Given the description of an element on the screen output the (x, y) to click on. 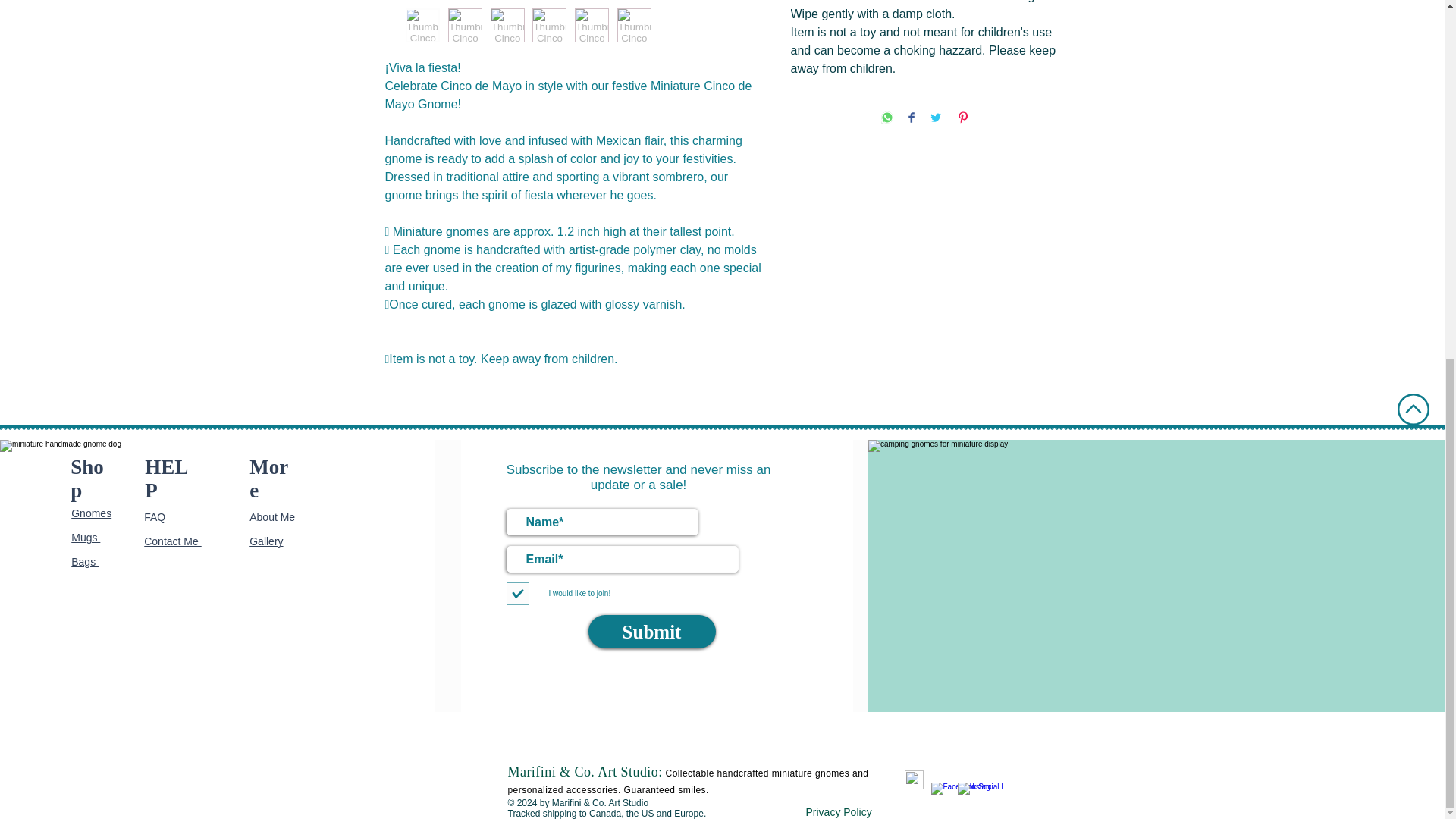
Contact Me  (172, 541)
About Me  (273, 517)
Mugs  (85, 537)
Bags  (85, 562)
Submit (652, 631)
Gnomes (91, 512)
Gallery (265, 541)
Privacy Policy (837, 811)
FAQ  (156, 517)
